Given the description of an element on the screen output the (x, y) to click on. 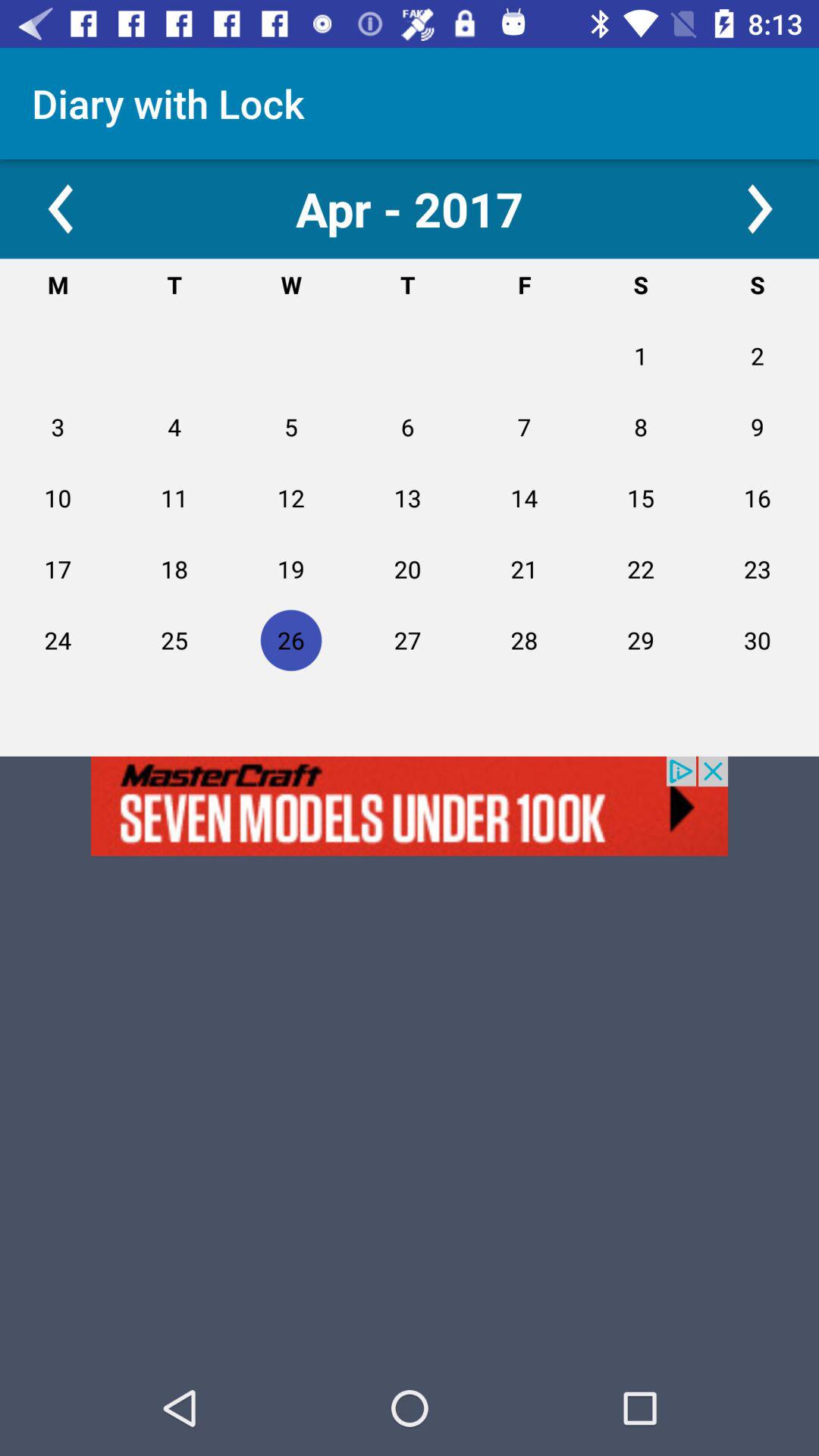
advertisement link to different site (409, 805)
